Given the description of an element on the screen output the (x, y) to click on. 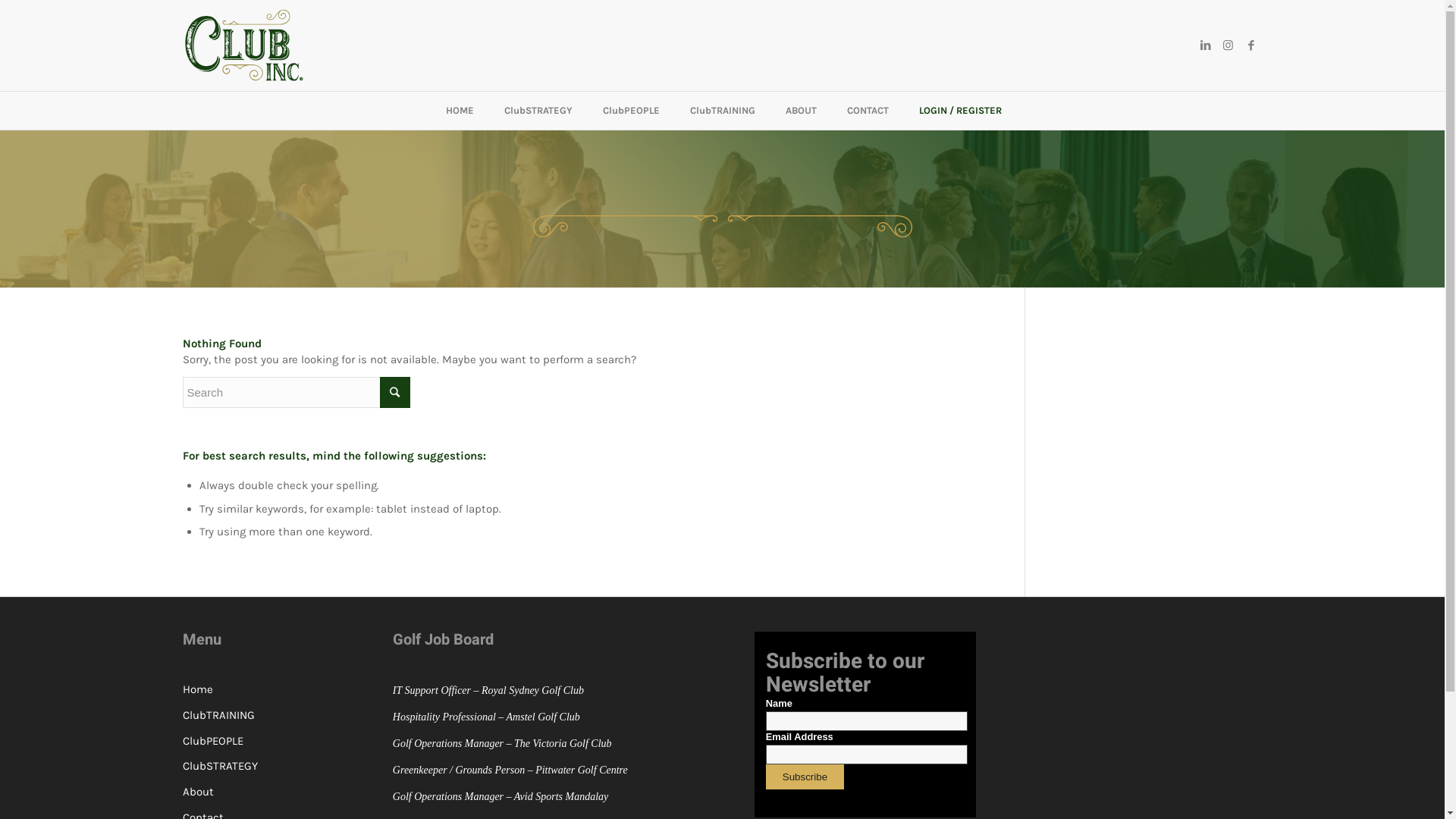
ClubPEOPLE Element type: text (292, 740)
ABOUT Element type: text (800, 110)
About Element type: text (292, 792)
ClubPEOPLE Element type: text (630, 110)
Instagram Element type: hover (1227, 45)
Activate Account Element type: text (591, 443)
Subscribe Element type: text (804, 776)
Sign In Element type: text (563, 330)
ClubSTRATEGY Element type: text (292, 766)
ClubSTRATEGY Element type: text (538, 110)
HOME Element type: text (459, 110)
ClubTRAINING Element type: text (722, 110)
ClubTRAINING Element type: text (292, 715)
Facebook Element type: hover (1250, 45)
CONTACT Element type: text (867, 110)
LOGIN / REGISTER Element type: text (959, 110)
Home Element type: text (292, 689)
LinkedIn Element type: hover (1204, 45)
